Given the description of an element on the screen output the (x, y) to click on. 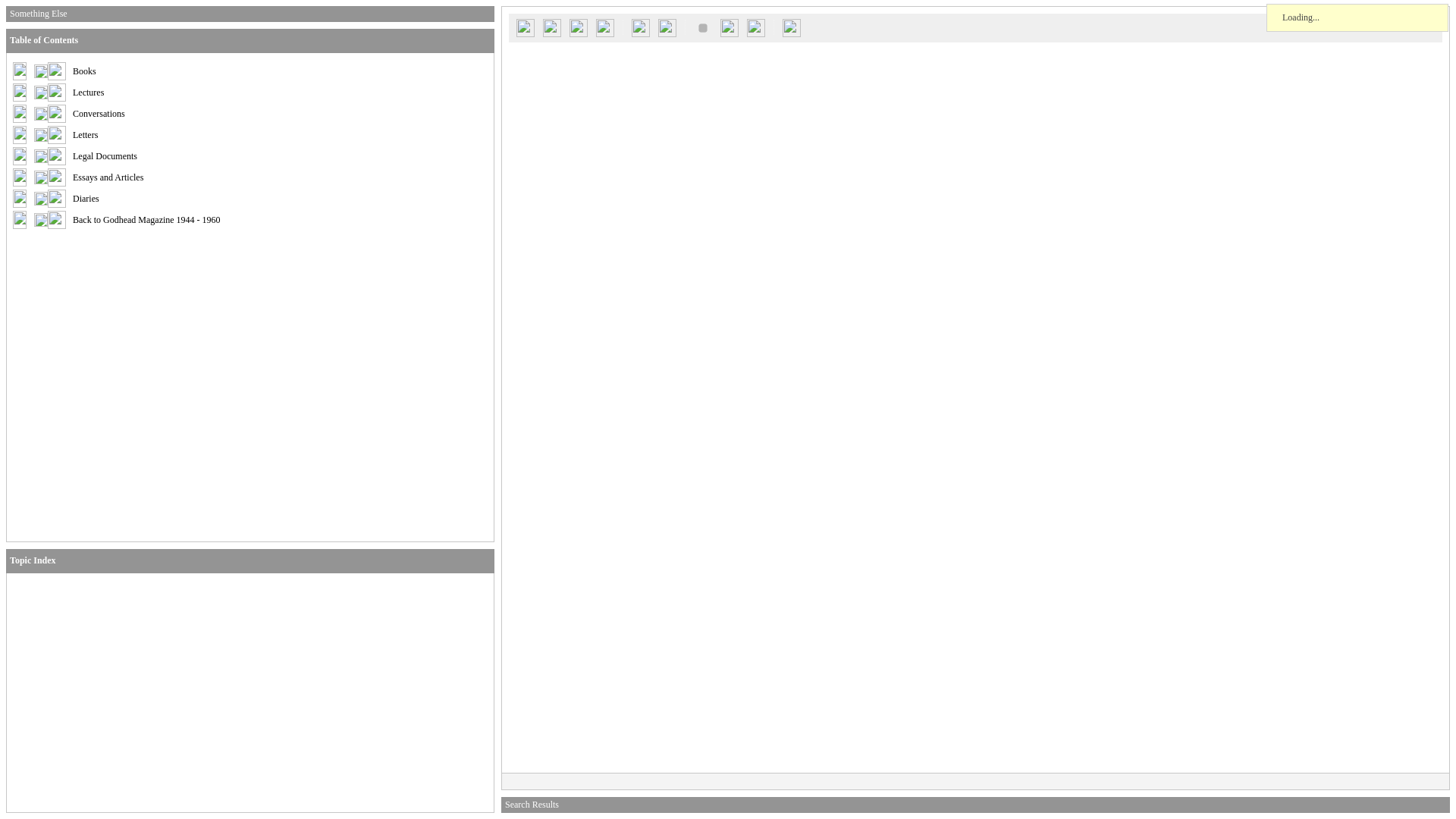
Previous Document (578, 27)
Previous Search Hit (640, 27)
Search (525, 27)
Bookmark (729, 27)
Help (791, 27)
Next Search Hit (666, 27)
Settings (755, 27)
Highlight Text (703, 27)
Login (551, 27)
Next Document (604, 27)
